Given the description of an element on the screen output the (x, y) to click on. 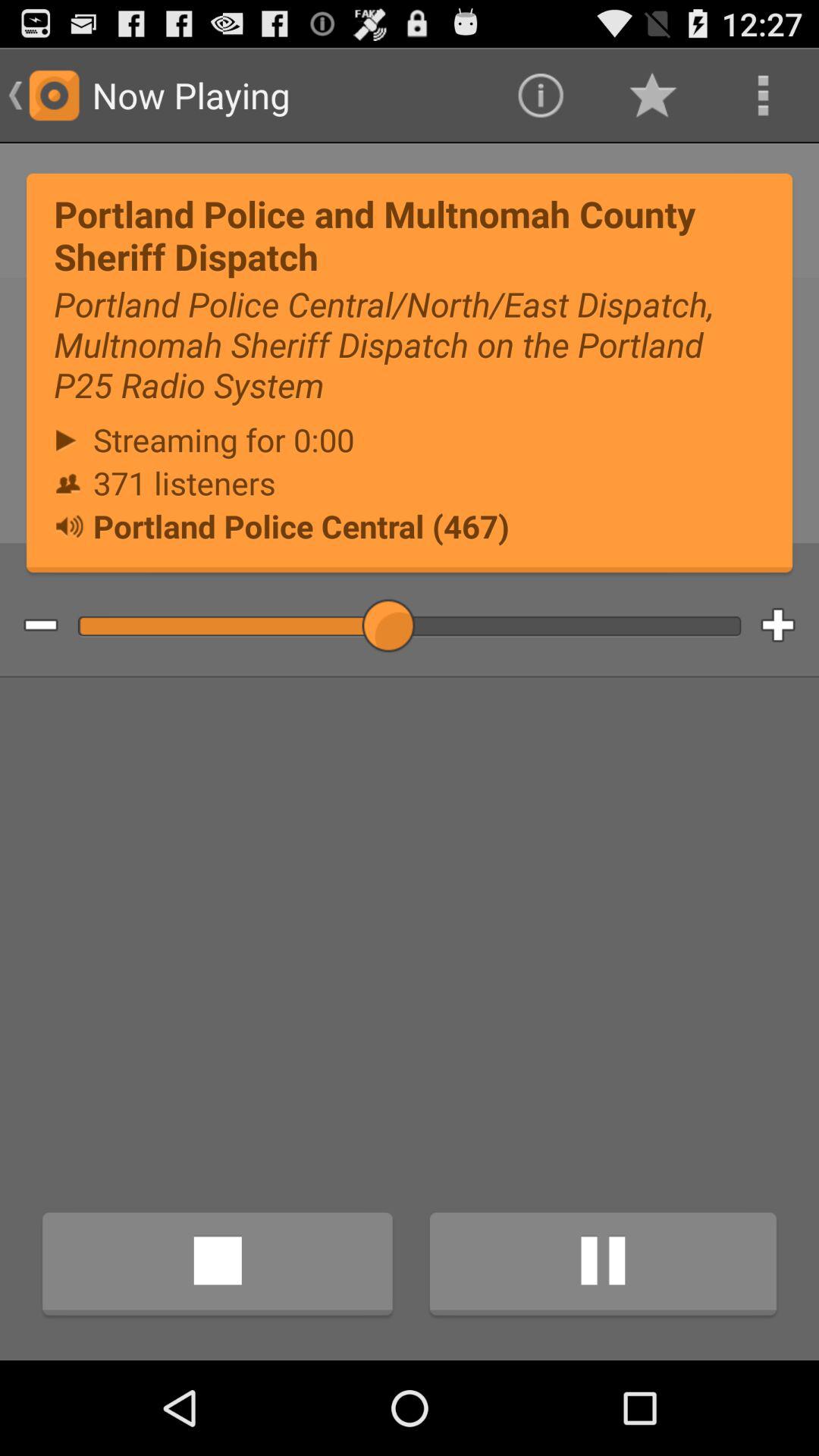
add to playlist (789, 626)
